Given the description of an element on the screen output the (x, y) to click on. 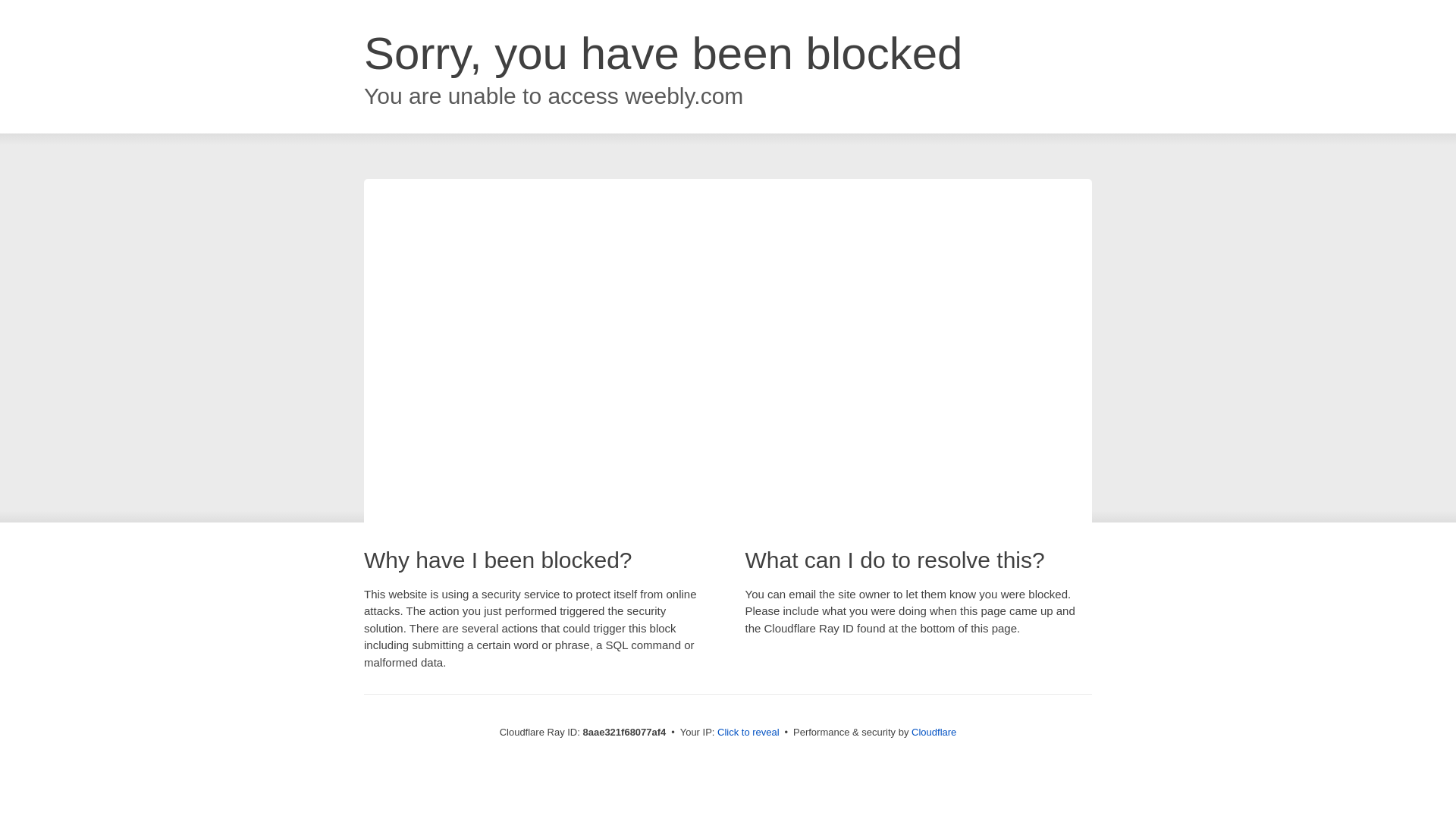
Cloudflare (933, 731)
Click to reveal (747, 732)
